Given the description of an element on the screen output the (x, y) to click on. 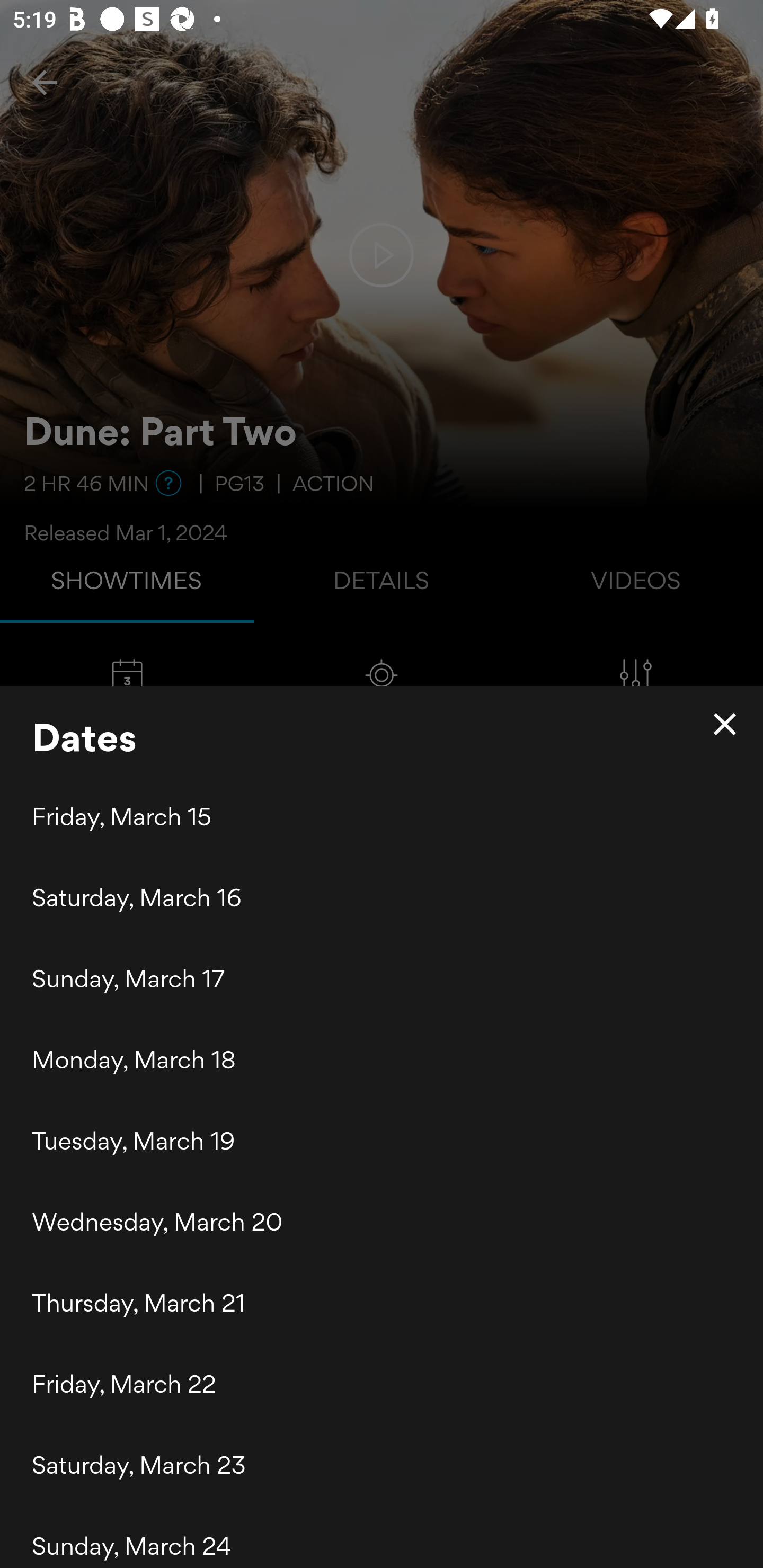
Close (724, 724)
Friday, March 15 (381, 816)
Saturday, March 16 (381, 897)
Sunday, March 17 (381, 978)
Monday, March 18 (381, 1059)
Tuesday, March 19 (381, 1140)
Wednesday, March 20 (381, 1221)
Thursday, March 21 (381, 1302)
Friday, March 22 (381, 1383)
Saturday, March 23 (381, 1464)
Sunday, March 24 (381, 1536)
